Given the description of an element on the screen output the (x, y) to click on. 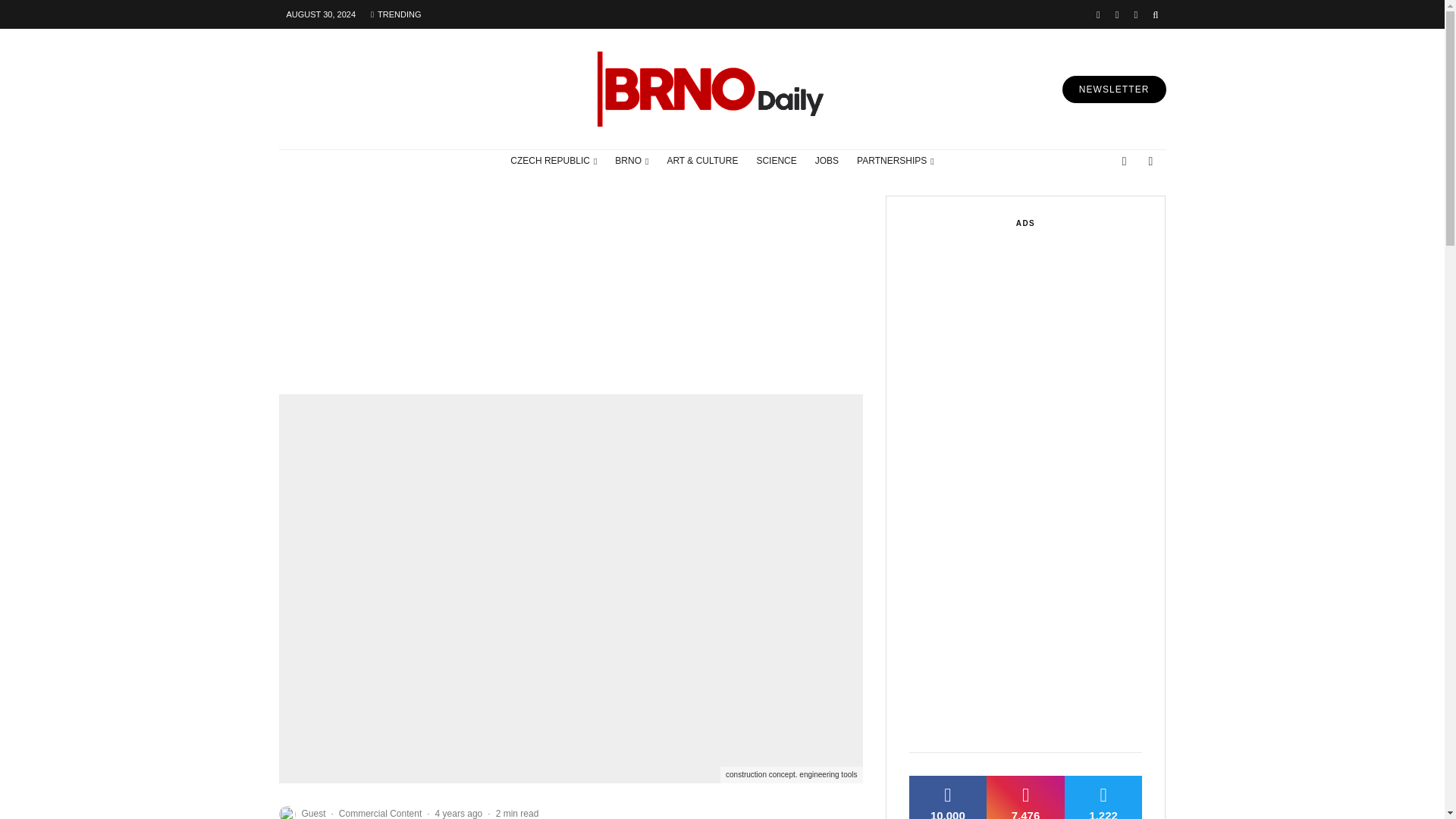
NEWSLETTER (1114, 89)
CZECH REPUBLIC (552, 160)
TRENDING (395, 14)
BRNO (631, 160)
